Given the description of an element on the screen output the (x, y) to click on. 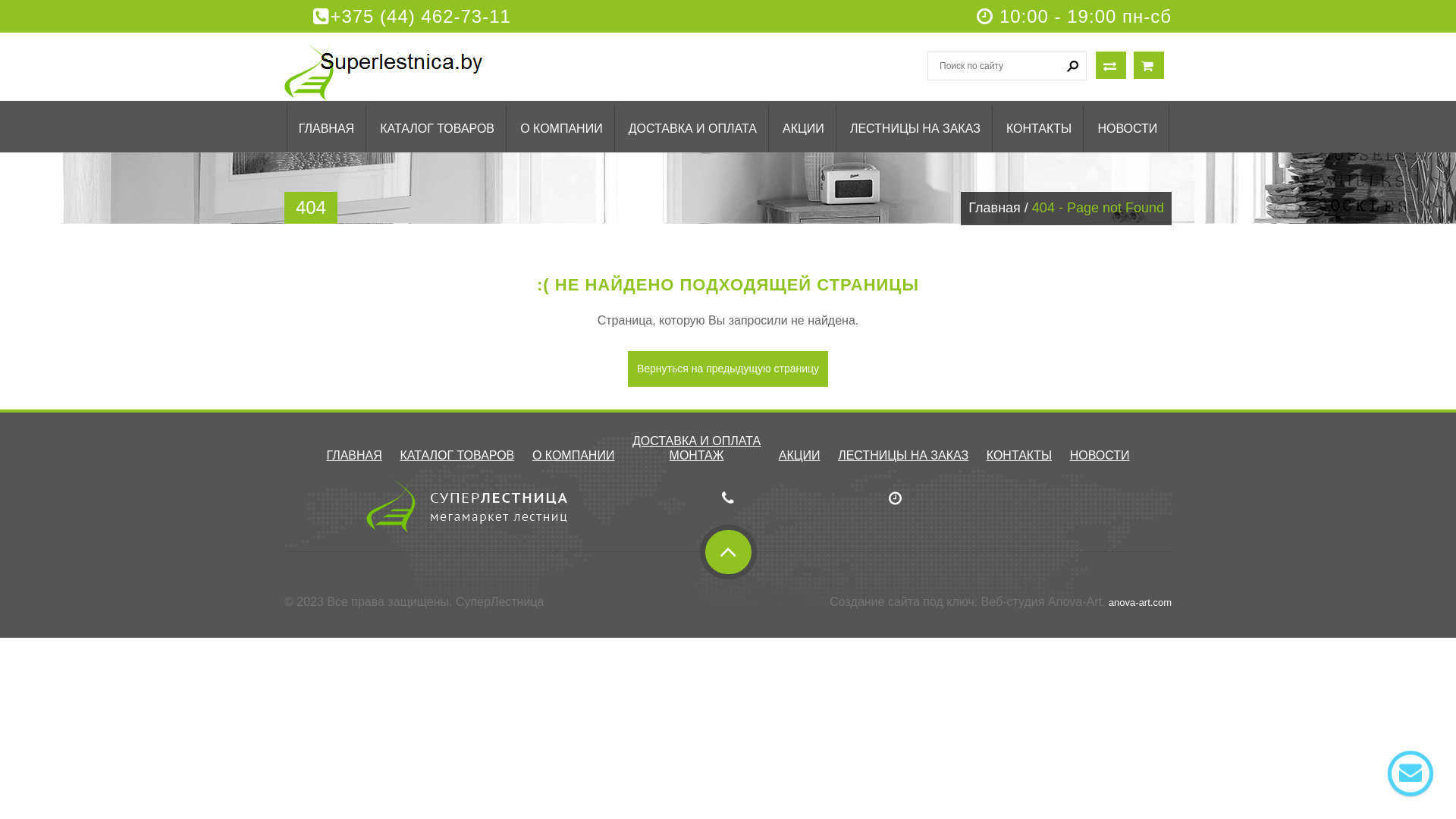
anova-art.com Element type: text (1139, 602)
+375 (44) 462-73-11 Element type: text (412, 16)
